Given the description of an element on the screen output the (x, y) to click on. 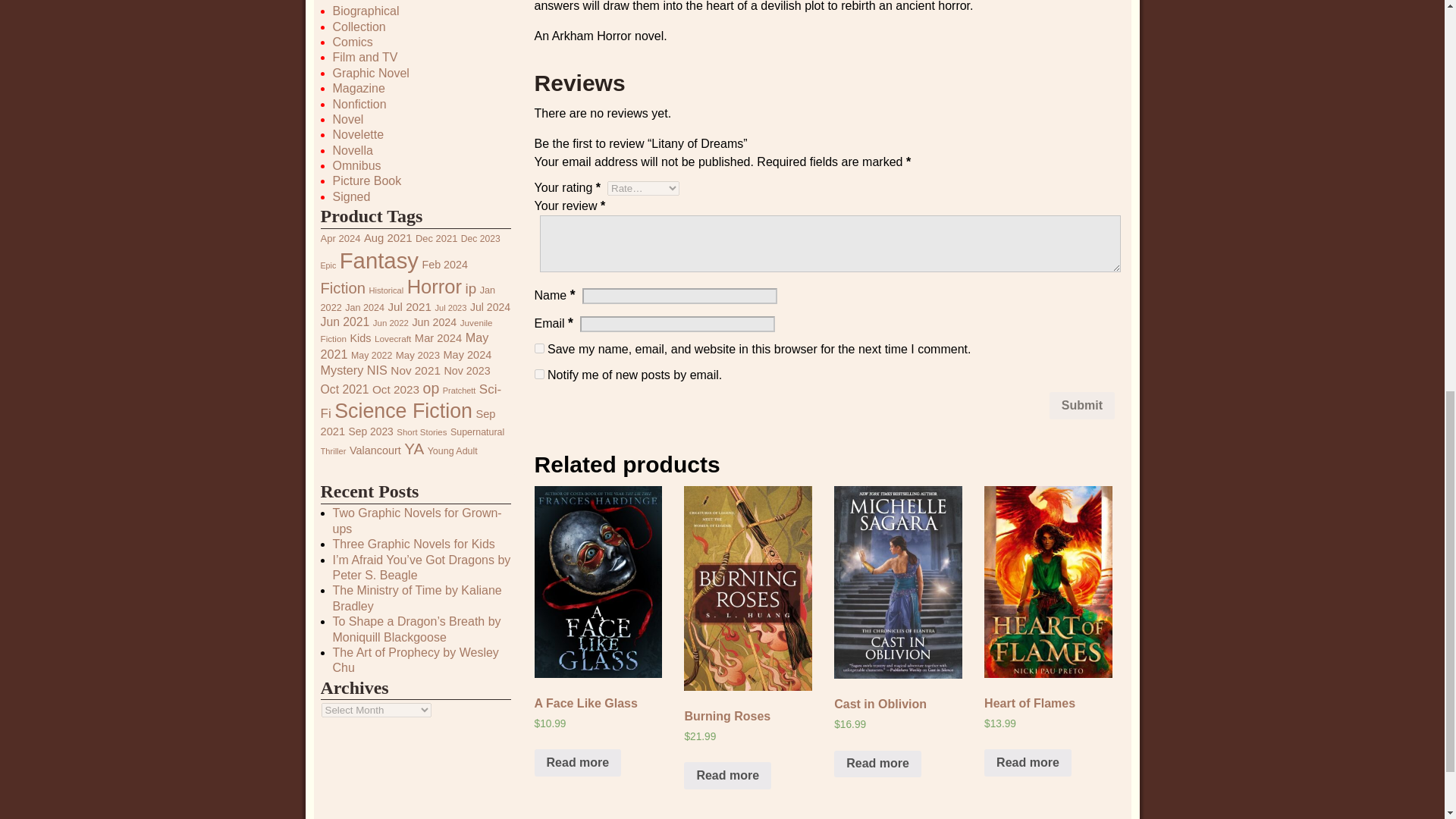
Read more (727, 775)
subscribe (539, 374)
Read more (1027, 762)
Read more (577, 762)
Submit (1082, 405)
Submit (1082, 405)
Read more (877, 764)
yes (539, 347)
